Given the description of an element on the screen output the (x, y) to click on. 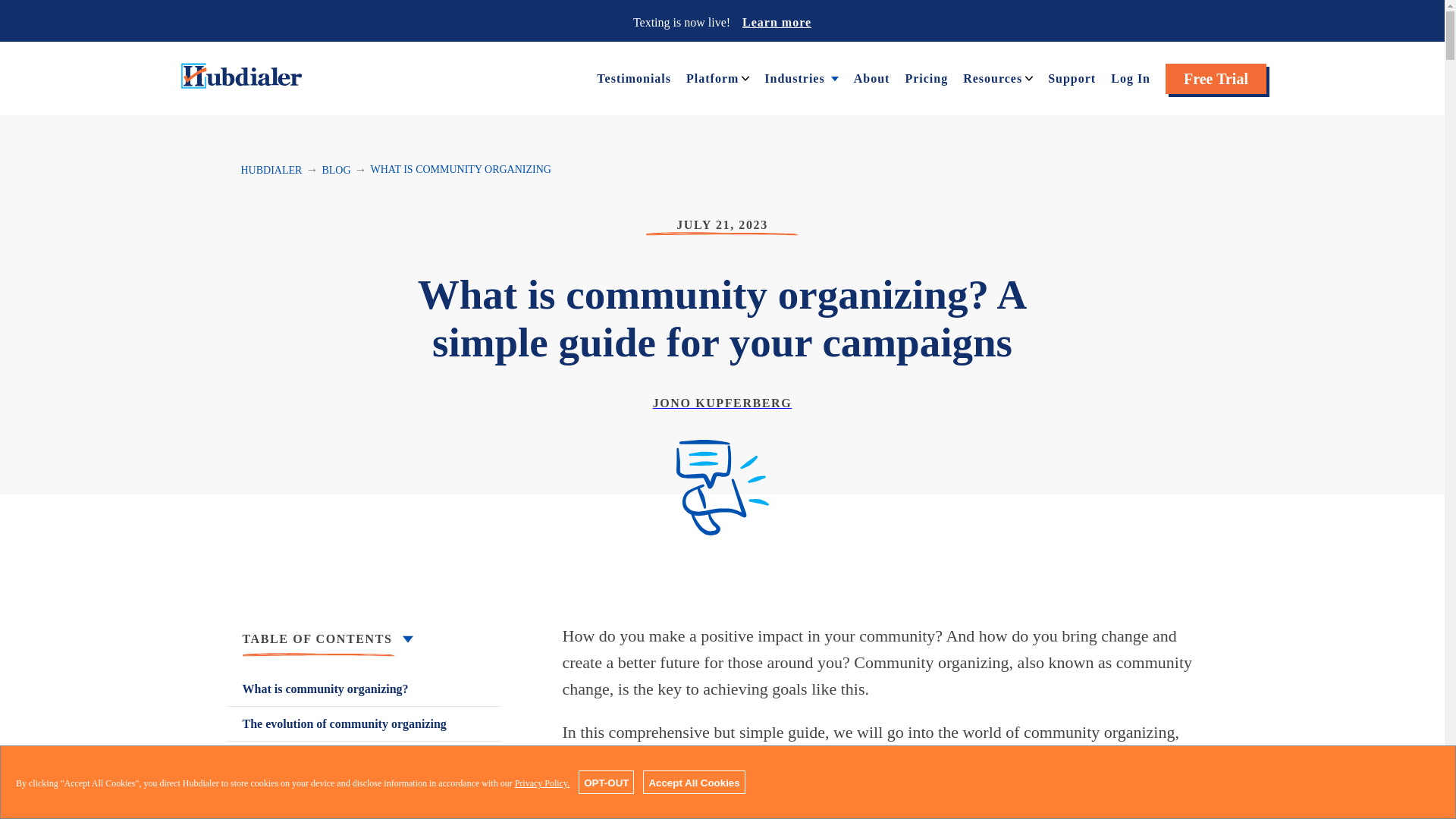
Learn more (776, 21)
Pricing (925, 77)
What is community organizing? (363, 688)
What are the other steps in successful community organizing? (363, 807)
Platform (711, 77)
Accept All Cookies (693, 781)
OPT-OUT (605, 781)
HUBDIALER (271, 170)
Log In (1130, 77)
What is the first step in community organizing? (363, 768)
Support (1072, 77)
Privacy Policy. (542, 783)
WHAT IS COMMUNITY ORGANIZING (461, 169)
About (871, 77)
